Given the description of an element on the screen output the (x, y) to click on. 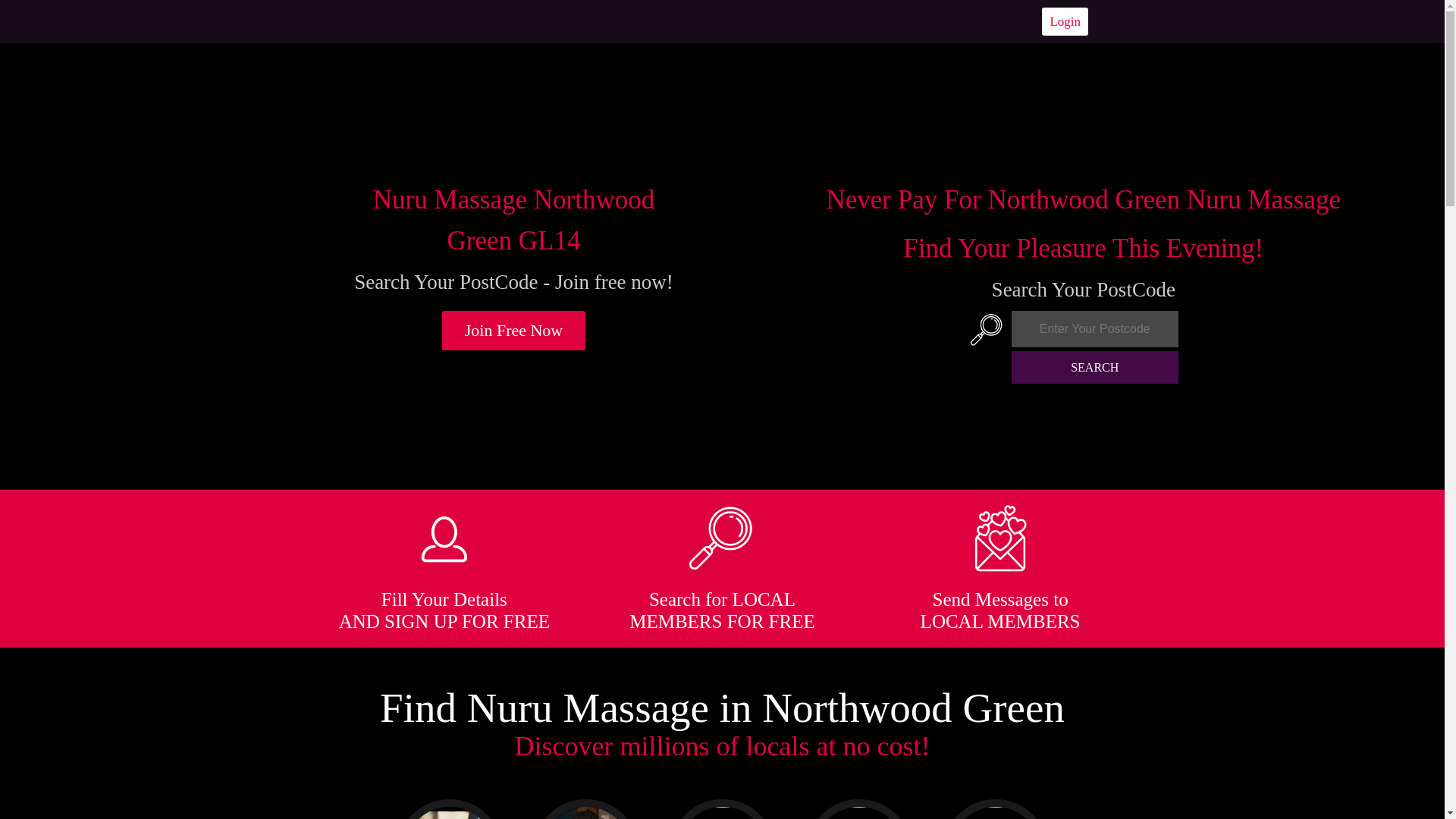
SEARCH (1094, 367)
Join (514, 330)
Login (1064, 21)
Join Free Now (514, 330)
Login (1064, 21)
